Given the description of an element on the screen output the (x, y) to click on. 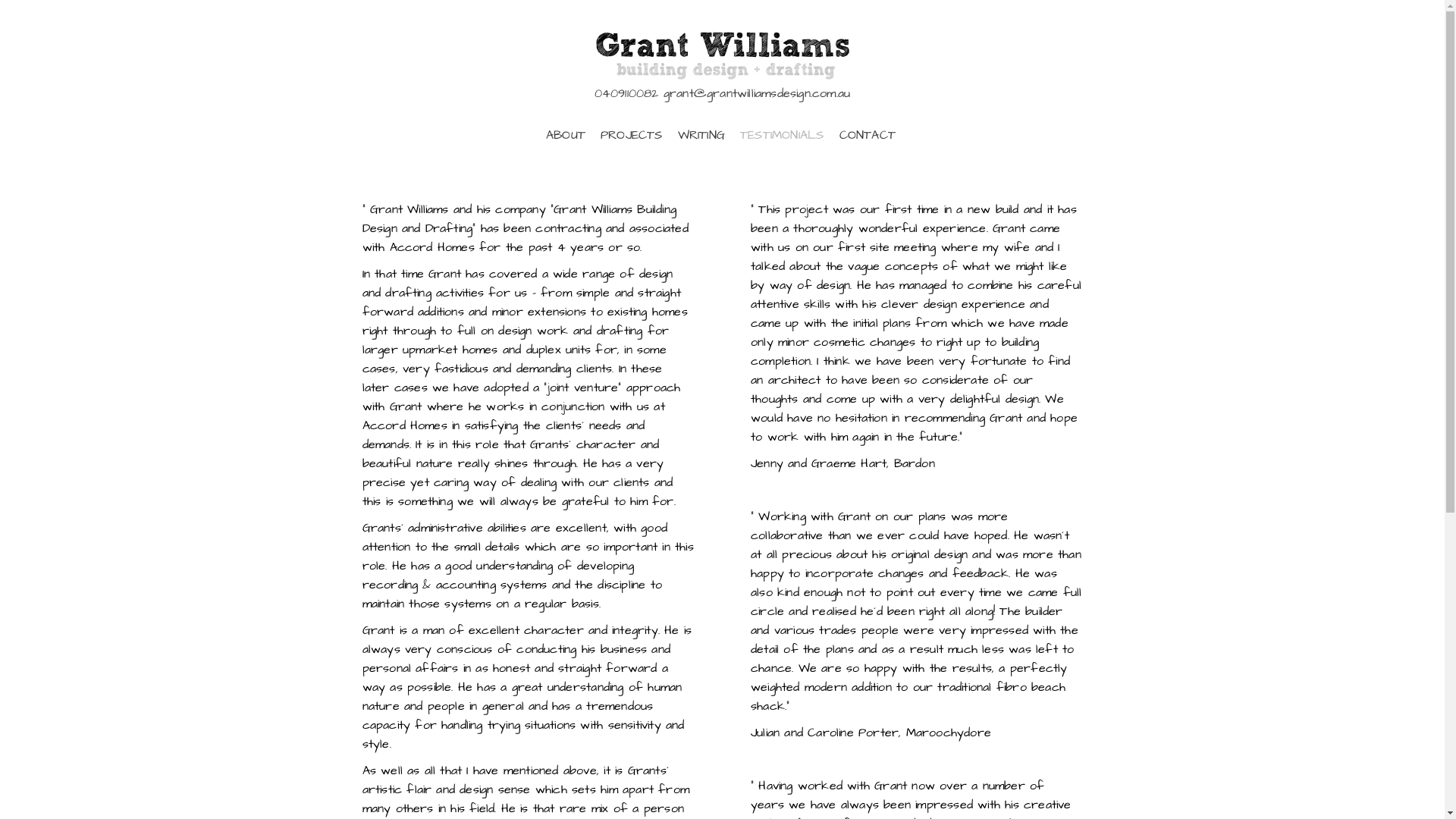
Grant Williams Design Element type: hover (722, 55)
TESTIMONIALS Element type: text (781, 135)
WRITING Element type: text (701, 135)
CONTACT Element type: text (866, 135)
PROJECTS Element type: text (631, 135)
ABOUT Element type: text (565, 135)
